Given the description of an element on the screen output the (x, y) to click on. 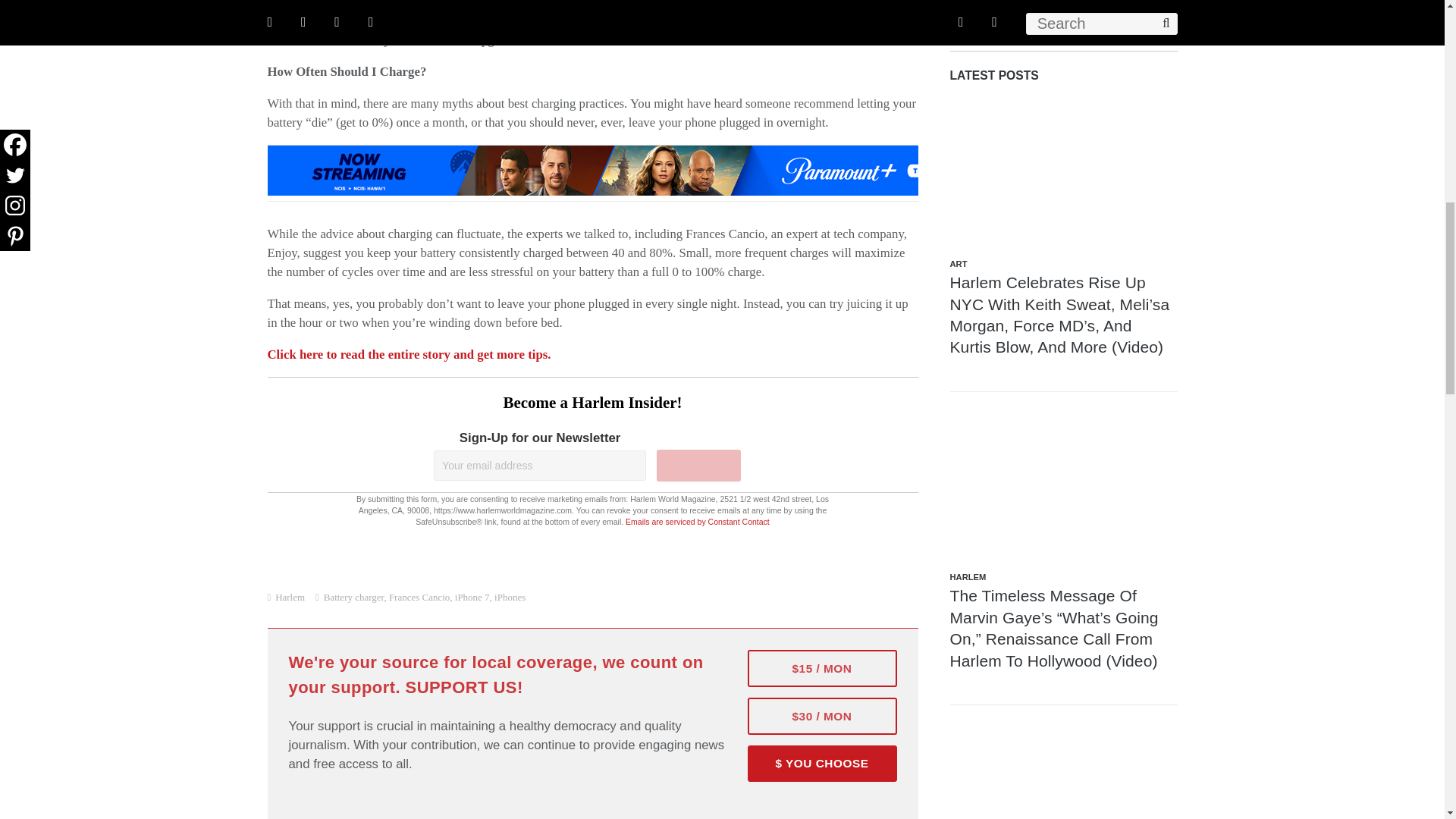
iPhones (510, 596)
iPhone 7 (471, 596)
Battery charger (353, 596)
Emails are serviced by Constant Contact (698, 521)
Harlem (289, 596)
Sign up (698, 465)
Sign up (698, 465)
Frances Cancio (418, 596)
Click here to read the entire story and get more tips. (408, 354)
